Given the description of an element on the screen output the (x, y) to click on. 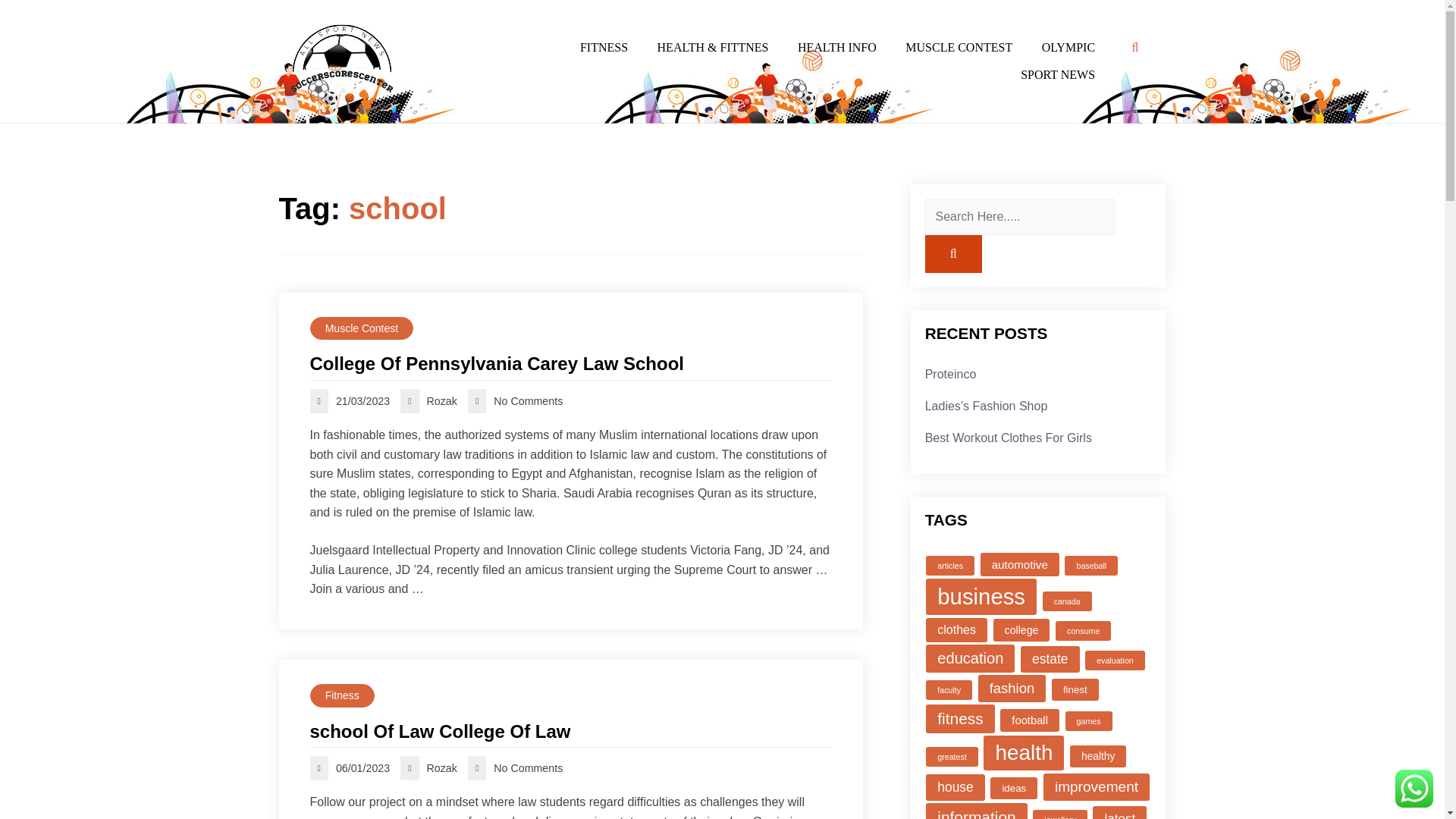
Proteinco (950, 373)
baseball (1091, 565)
SSC (292, 116)
Best Workout Clothes For Girls (1008, 436)
school Of Law College Of Law (569, 731)
articles (950, 565)
SPORT NEWS (1057, 74)
College Of Pennsylvania Carey Law School (569, 363)
Fitness (341, 695)
MUSCLE CONTEST (958, 47)
